Given the description of an element on the screen output the (x, y) to click on. 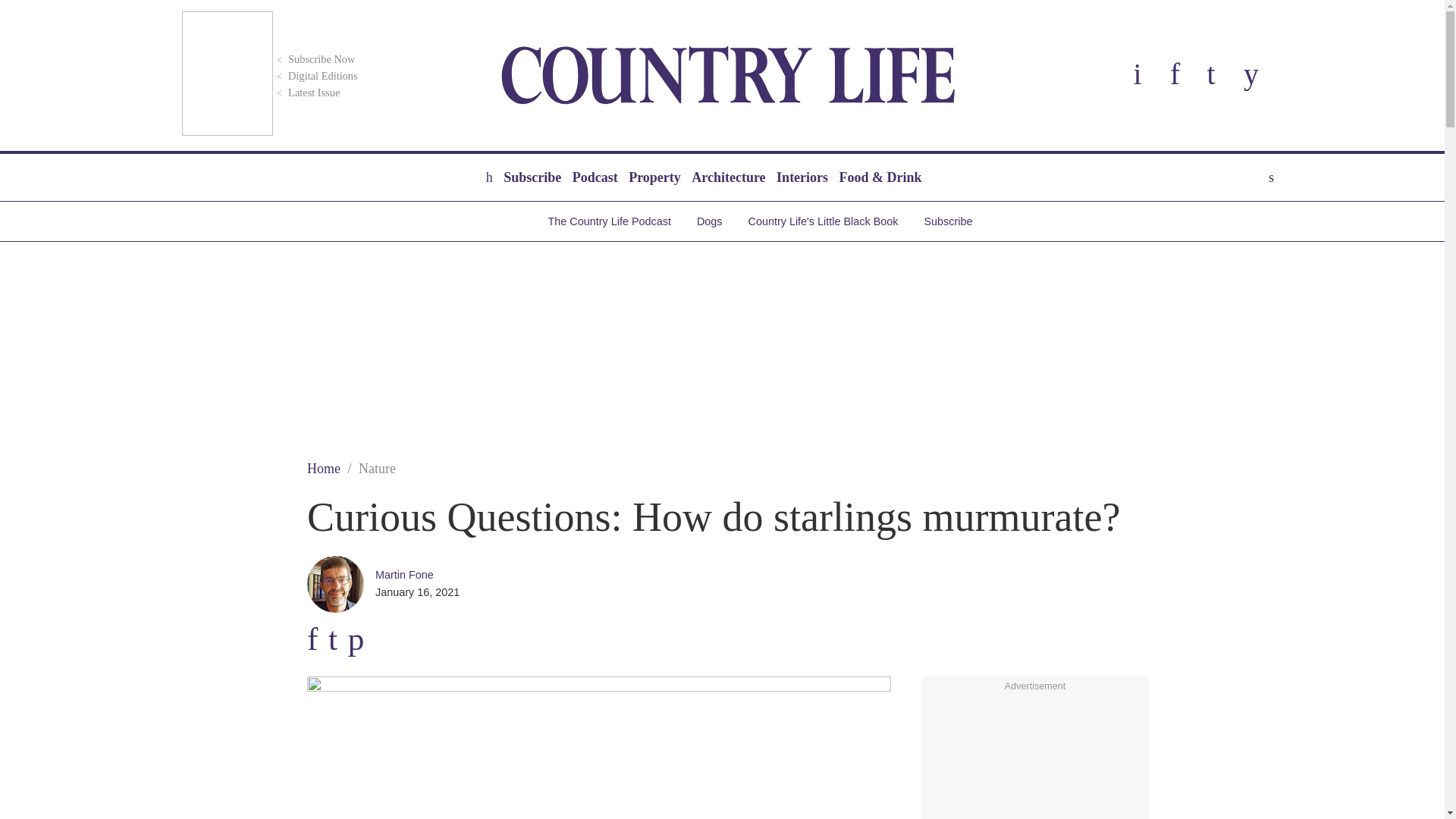
Digital Editions (315, 75)
Podcast (595, 176)
Property (654, 176)
Country Life (727, 74)
Interiors (802, 176)
Subscribe (531, 176)
Subscribe Now (314, 59)
Architecture (727, 176)
Latest Issue (306, 92)
